Given the description of an element on the screen output the (x, y) to click on. 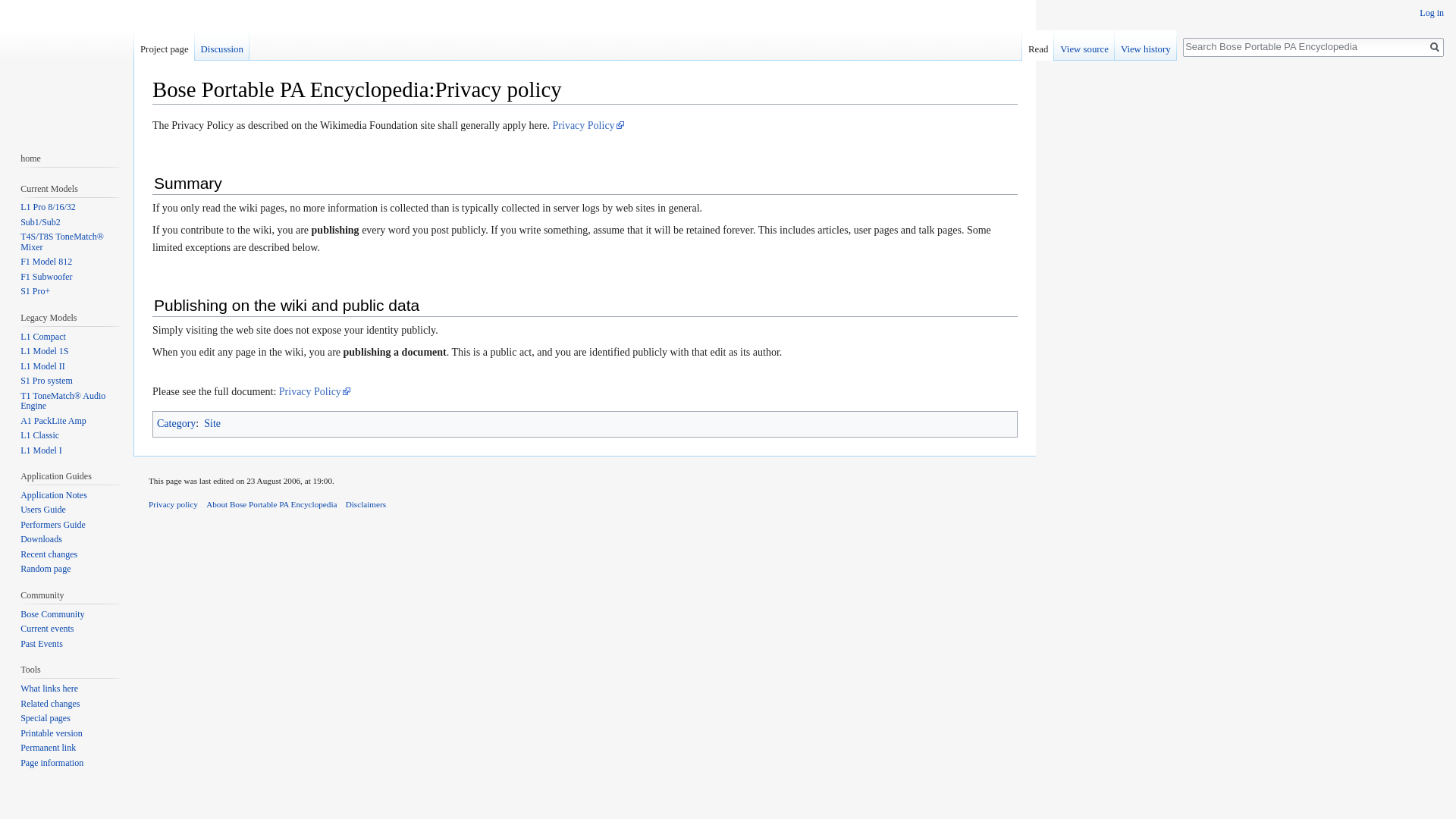
F1 Model 812 (45, 261)
Privacy Policy (588, 125)
Category (176, 423)
Visit the main page (66, 60)
S1 Pro system (46, 380)
Site (212, 423)
Bose Community (52, 614)
Recent changes (48, 553)
Discussion (221, 45)
Find background information on current events (47, 628)
